Given the description of an element on the screen output the (x, y) to click on. 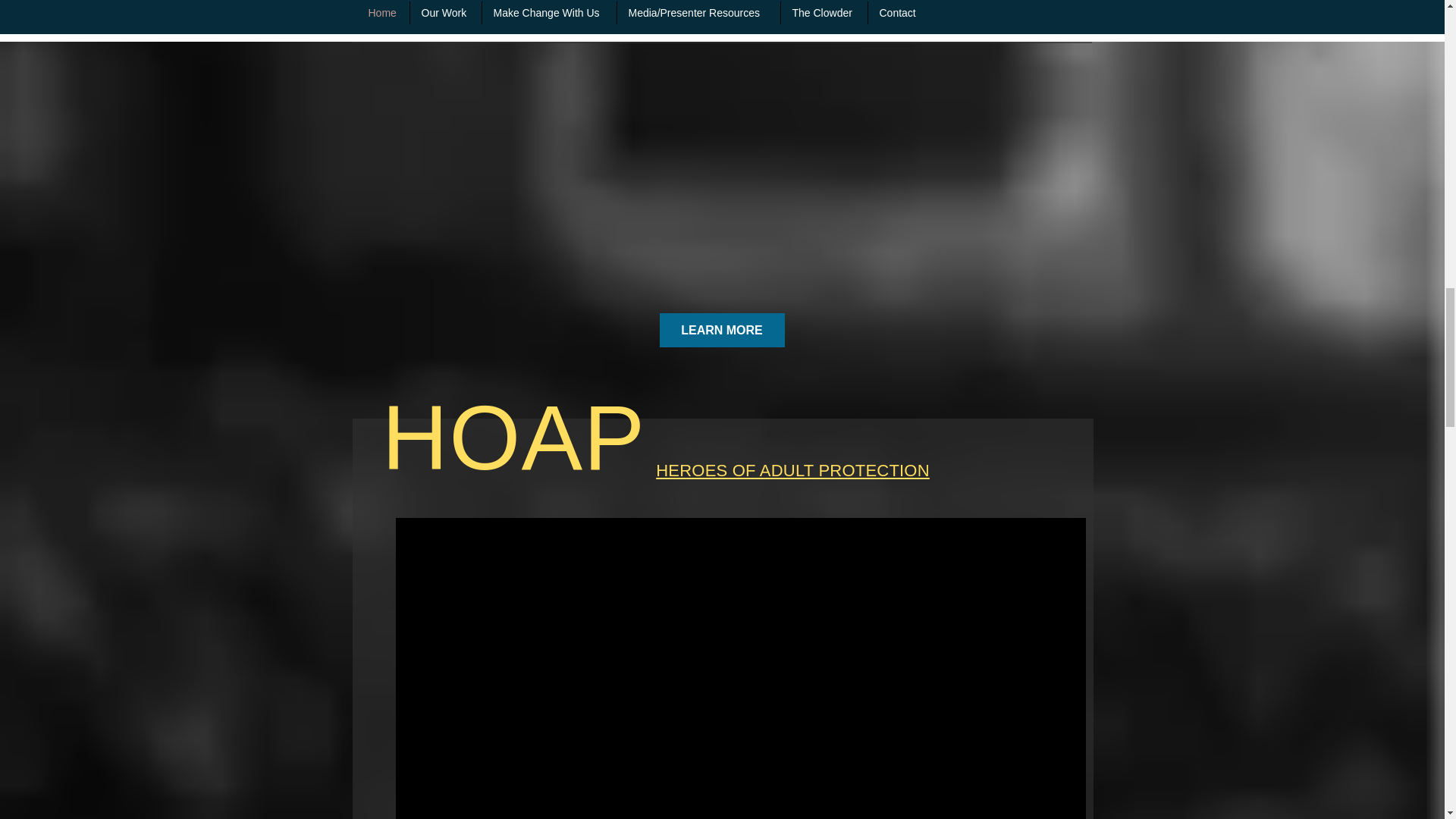
LEARN MORE (721, 329)
HEROES OF ADULT PROTECTION (793, 470)
HOAP (513, 437)
